Given the description of an element on the screen output the (x, y) to click on. 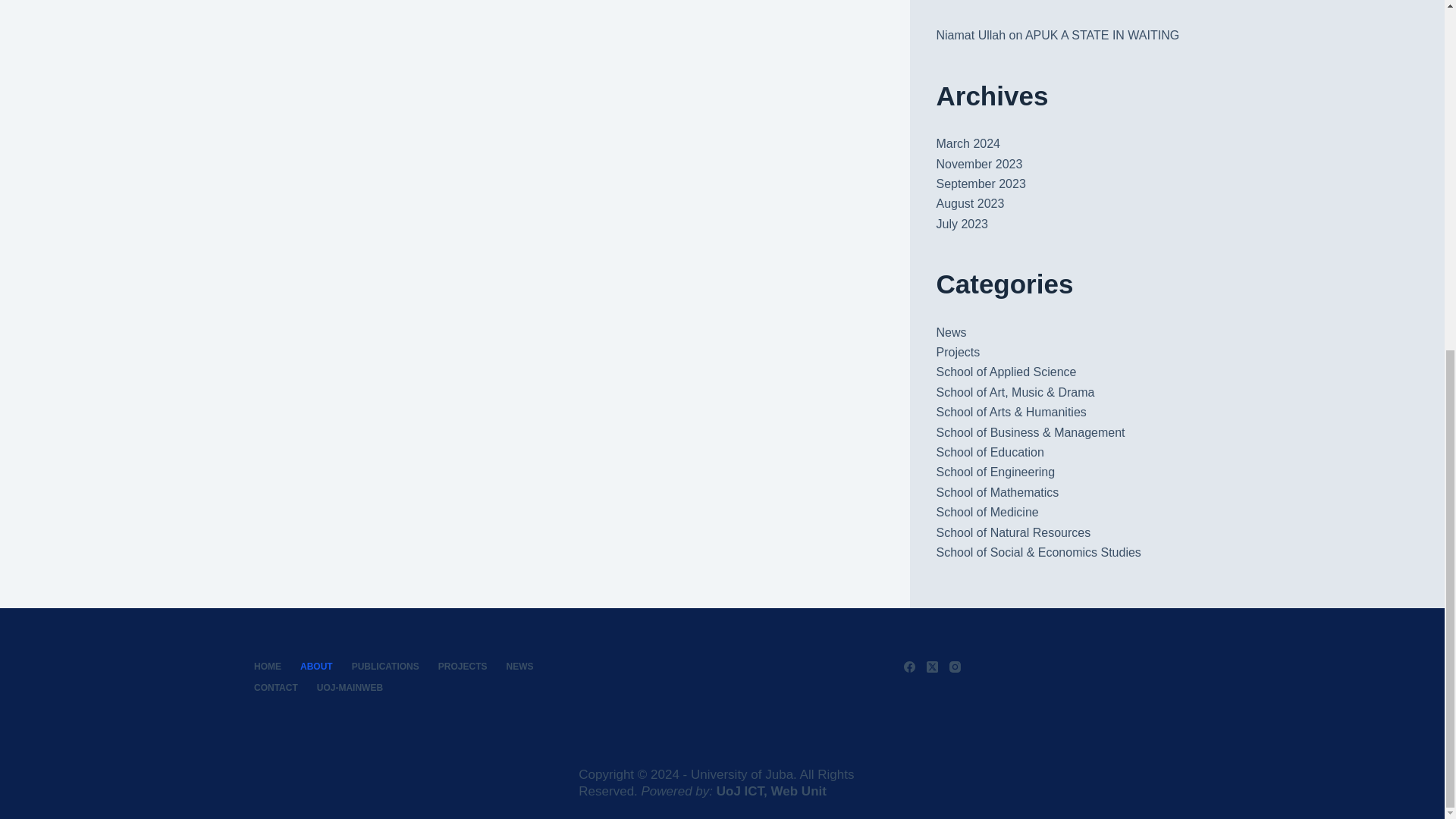
September 2023 (980, 183)
APUK A STATE IN WAITING (1102, 34)
November 2023 (979, 164)
March 2024 (968, 143)
